Given the description of an element on the screen output the (x, y) to click on. 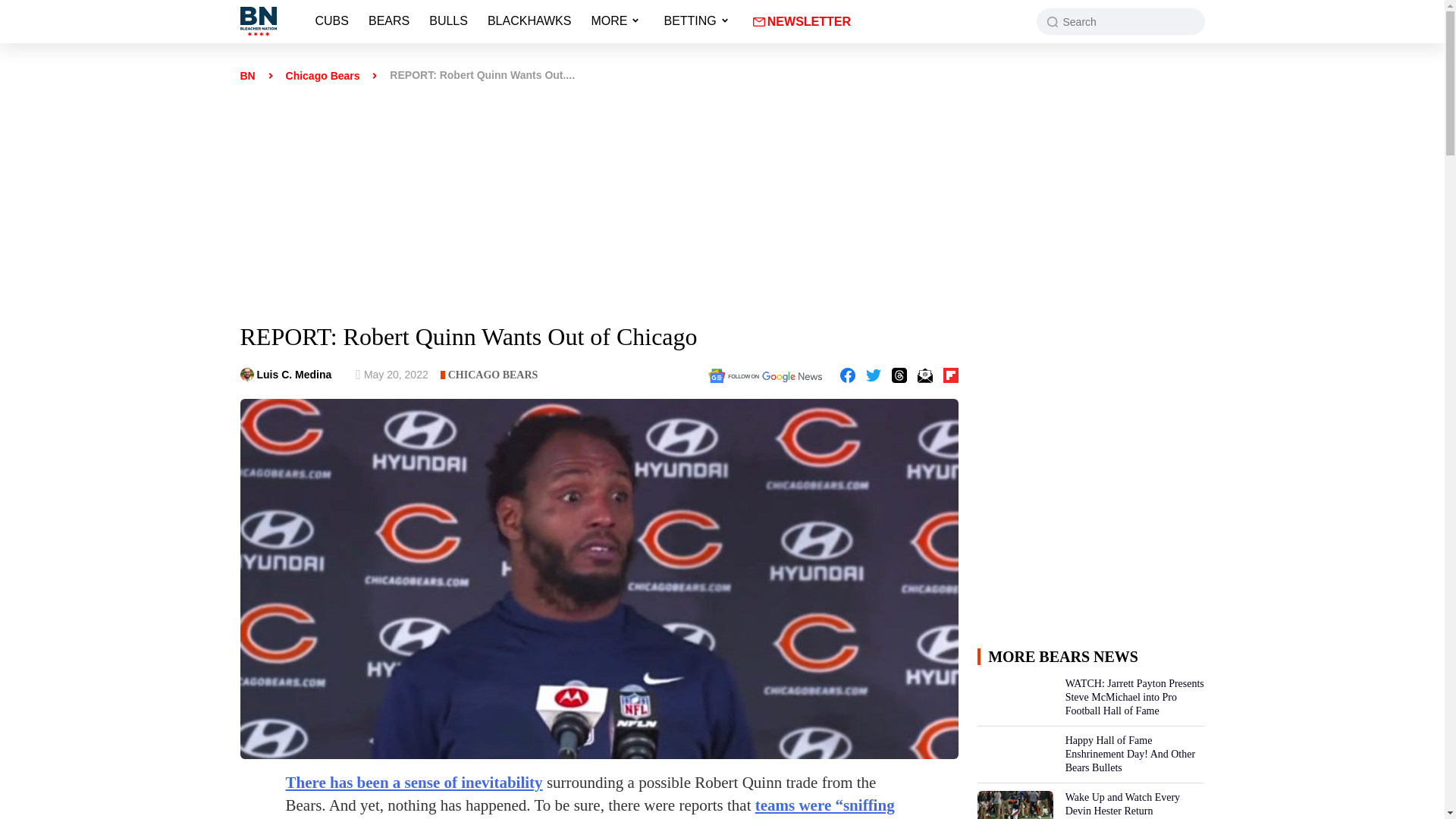
BLACKHAWKS (529, 14)
MORE (609, 14)
BEARS (388, 14)
CUBS (332, 14)
BETTING (689, 14)
BULLS (448, 14)
